Given the description of an element on the screen output the (x, y) to click on. 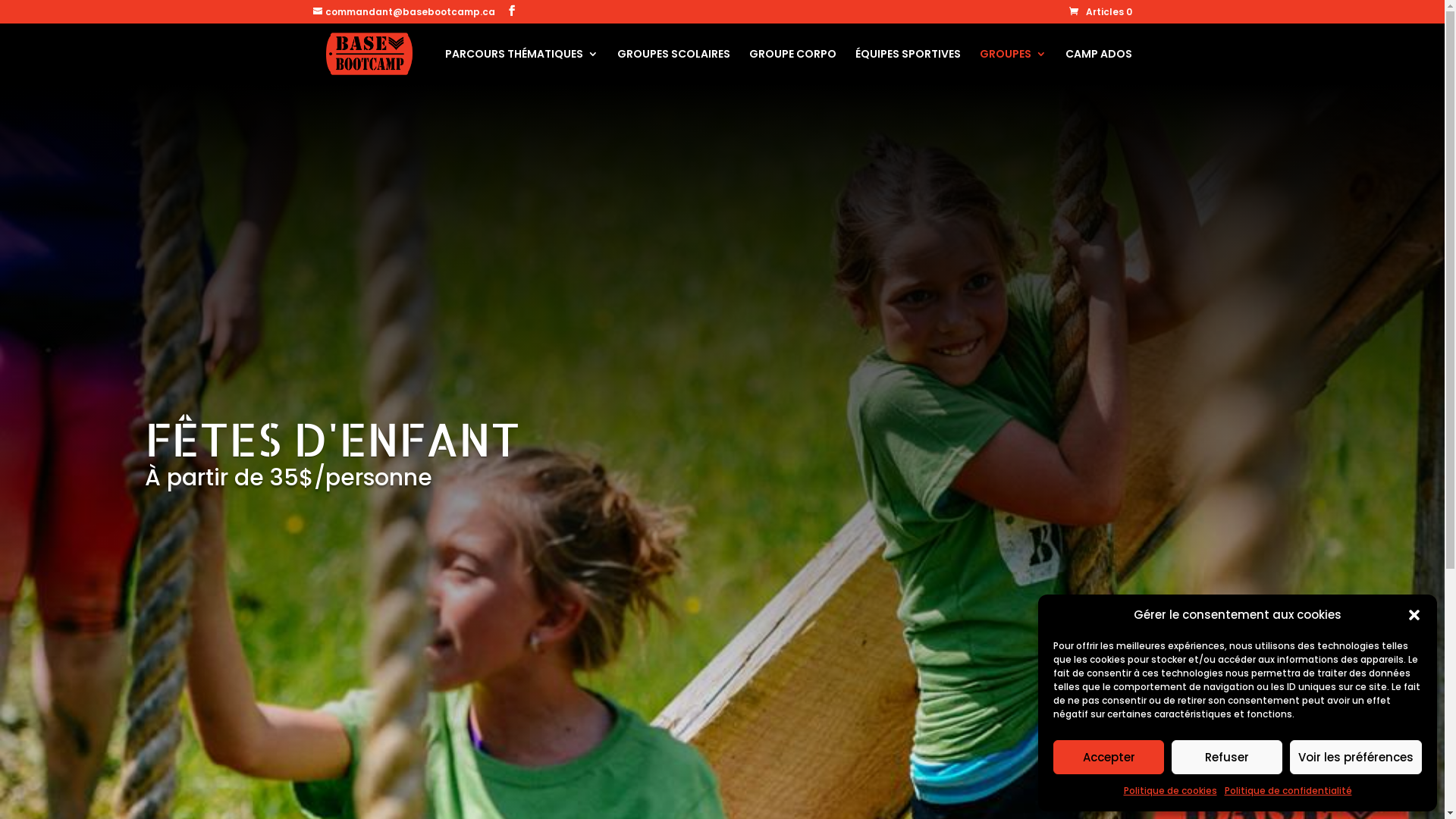
Articles 0 Element type: text (1100, 11)
CAMP ADOS Element type: text (1097, 66)
GROUPES SCOLAIRES Element type: text (673, 66)
Politique de cookies Element type: text (1170, 790)
commandant@basebootcamp.ca Element type: text (403, 11)
GROUPES Element type: text (1012, 66)
Refuser Element type: text (1226, 757)
Accepter Element type: text (1108, 757)
GROUPE CORPO Element type: text (792, 66)
